Given the description of an element on the screen output the (x, y) to click on. 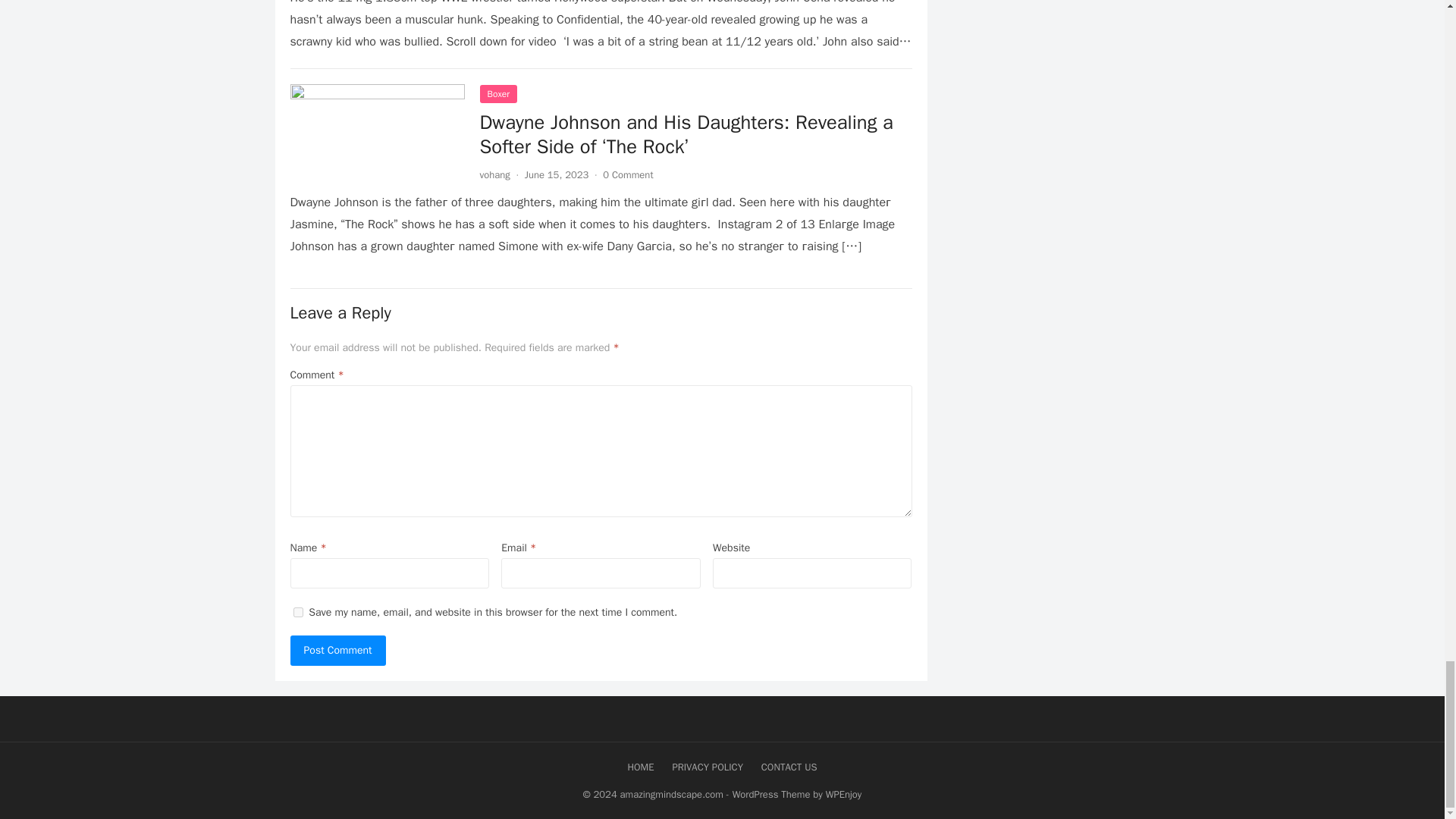
Post Comment (337, 650)
yes (297, 612)
Posts by vohang (494, 174)
